Given the description of an element on the screen output the (x, y) to click on. 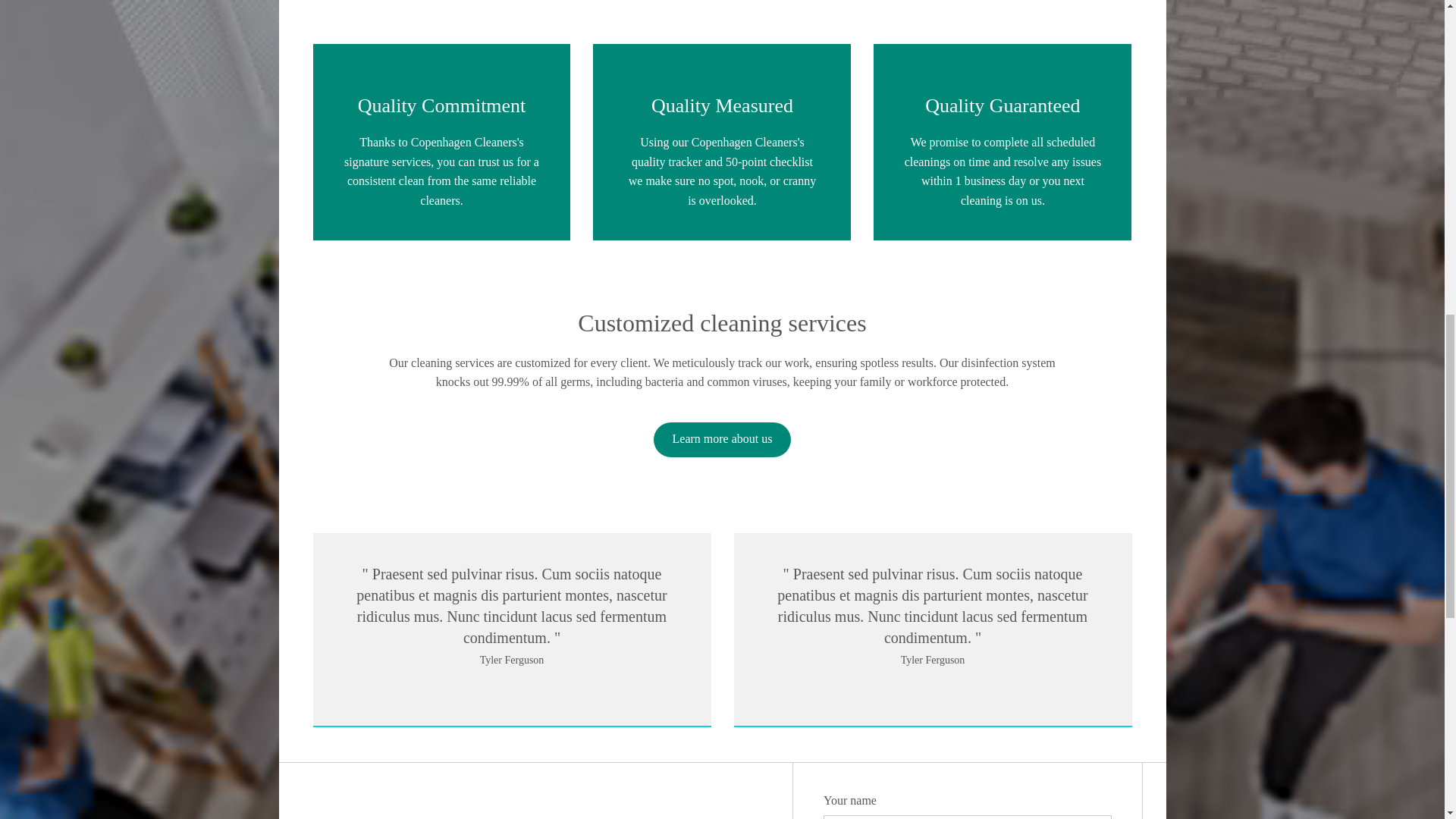
Learn more about us (722, 439)
